Given the description of an element on the screen output the (x, y) to click on. 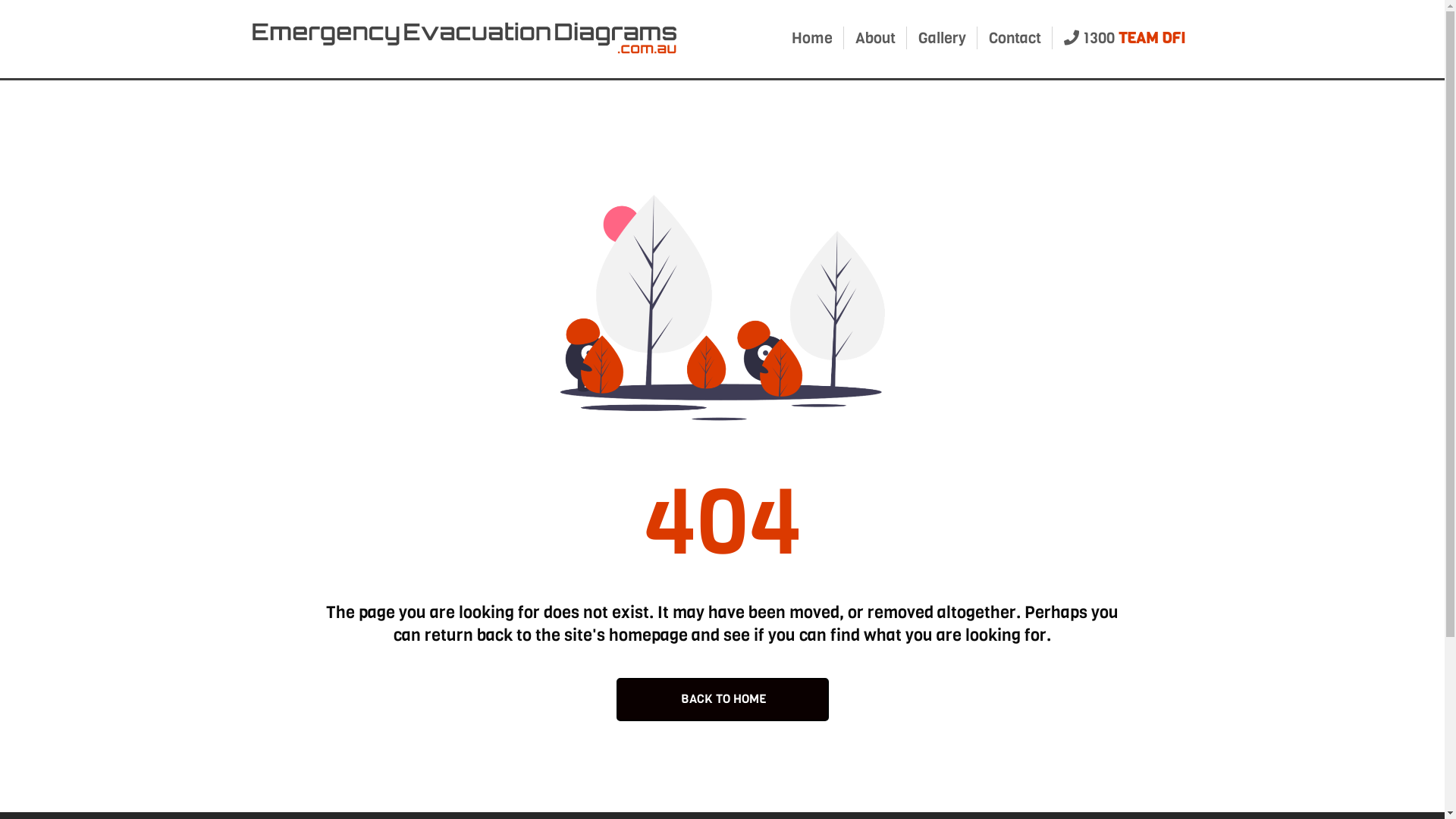
BACK TO HOME Element type: text (721, 699)
Gallery Element type: text (941, 37)
1300 Element type: text (1123, 37)
Contact Element type: text (1014, 37)
not-found-1 Element type: hover (721, 307)
Home Element type: text (811, 37)
About Element type: text (875, 37)
